Given the description of an element on the screen output the (x, y) to click on. 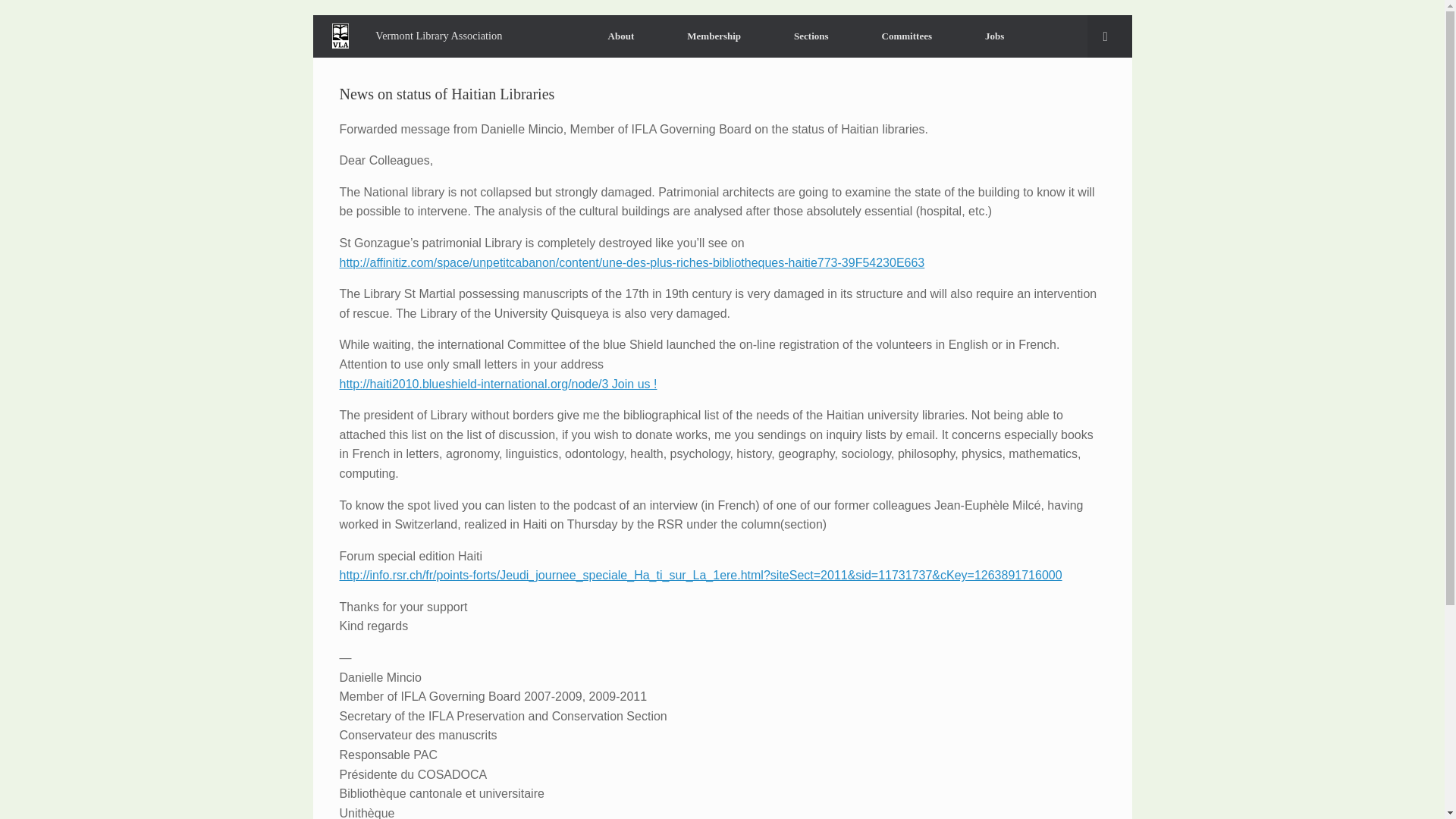
Sections (811, 35)
Membership (714, 35)
Jobs (994, 35)
Vermont Library Association (422, 36)
Vermont Library Association (422, 36)
About (620, 35)
Committees (907, 35)
